Given the description of an element on the screen output the (x, y) to click on. 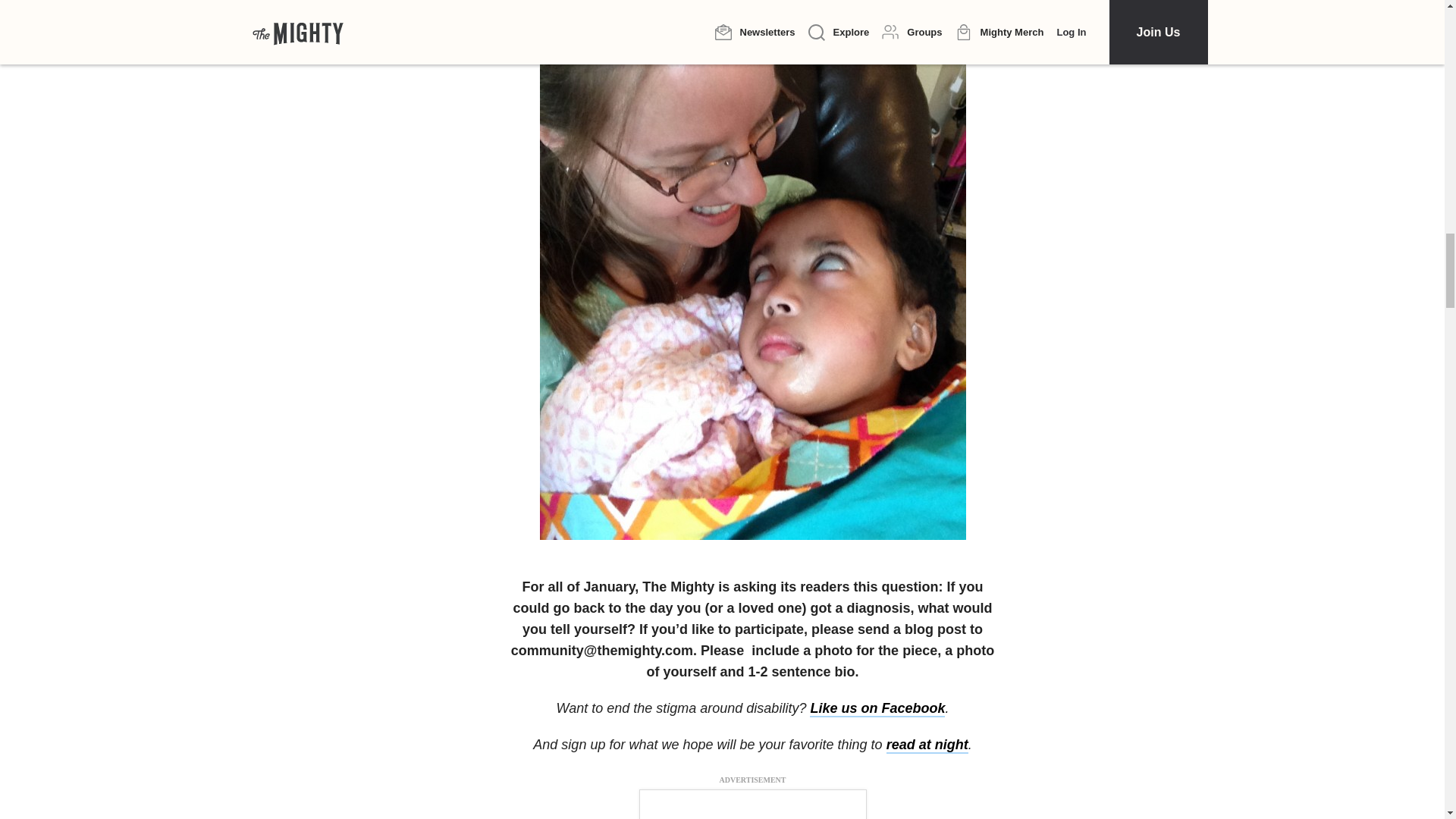
Like us on Facebook (876, 709)
read at night (927, 745)
